Given the description of an element on the screen output the (x, y) to click on. 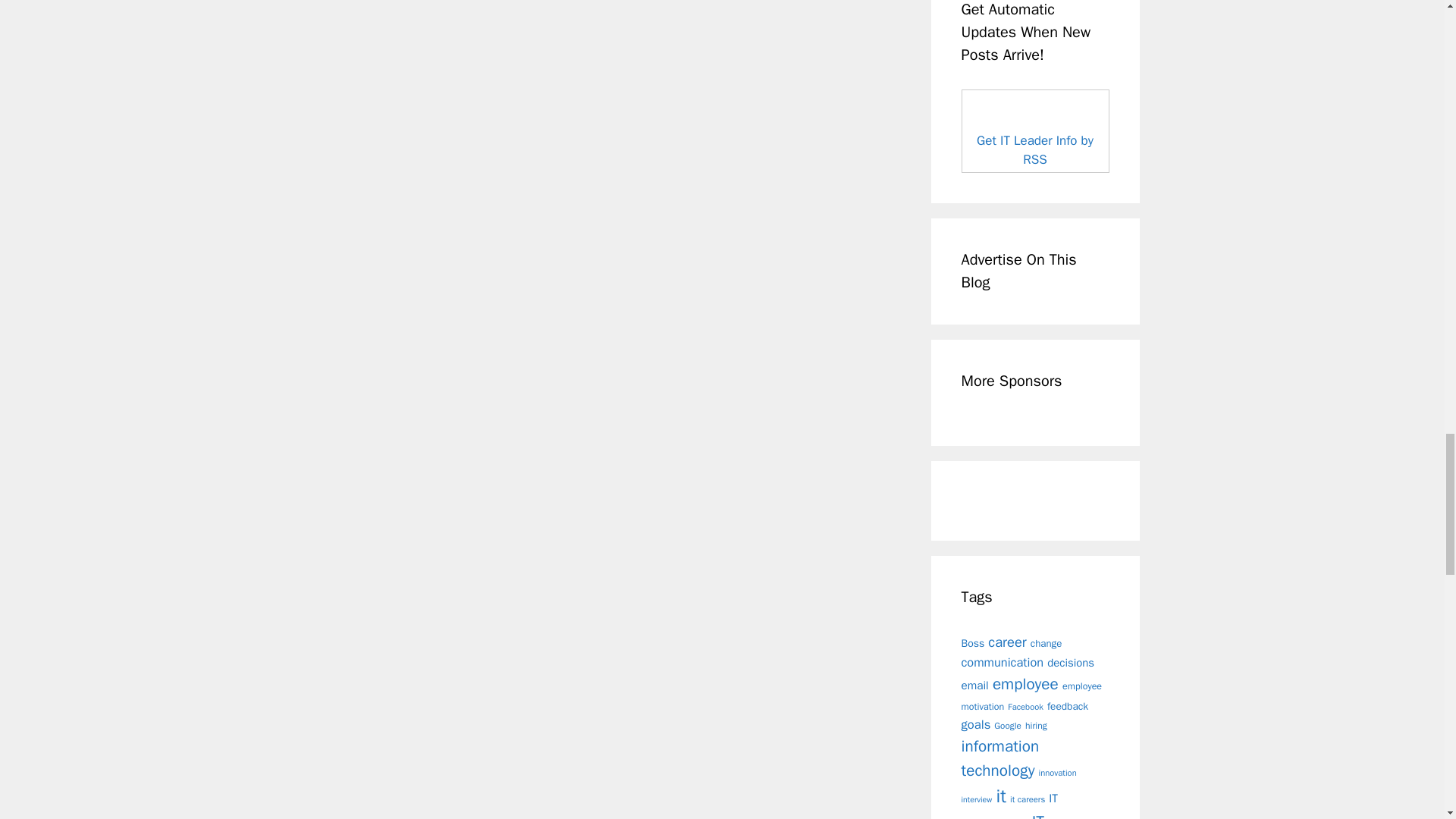
Subscribe to my feed (1034, 130)
Subscribe to my feed (1034, 150)
